Given the description of an element on the screen output the (x, y) to click on. 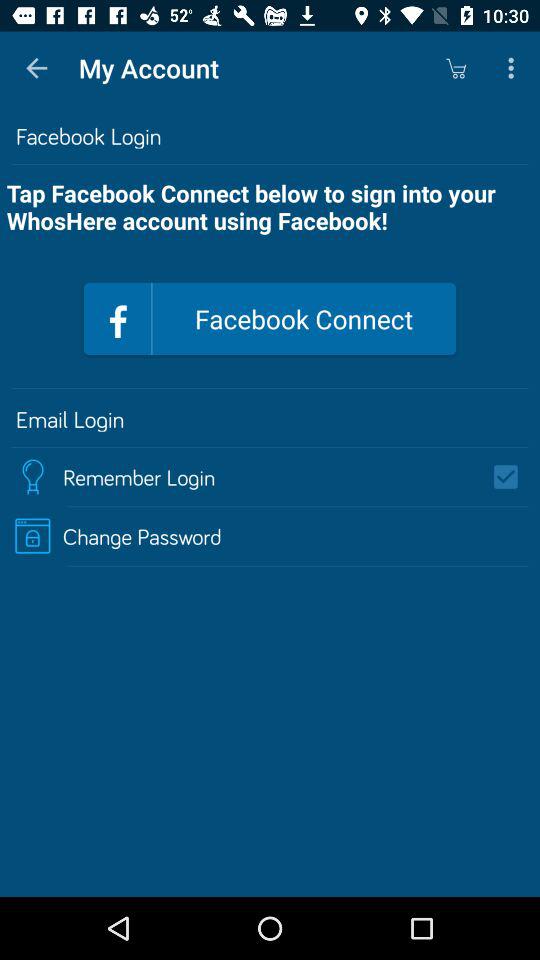
launch item to the left of the my account (36, 68)
